Given the description of an element on the screen output the (x, y) to click on. 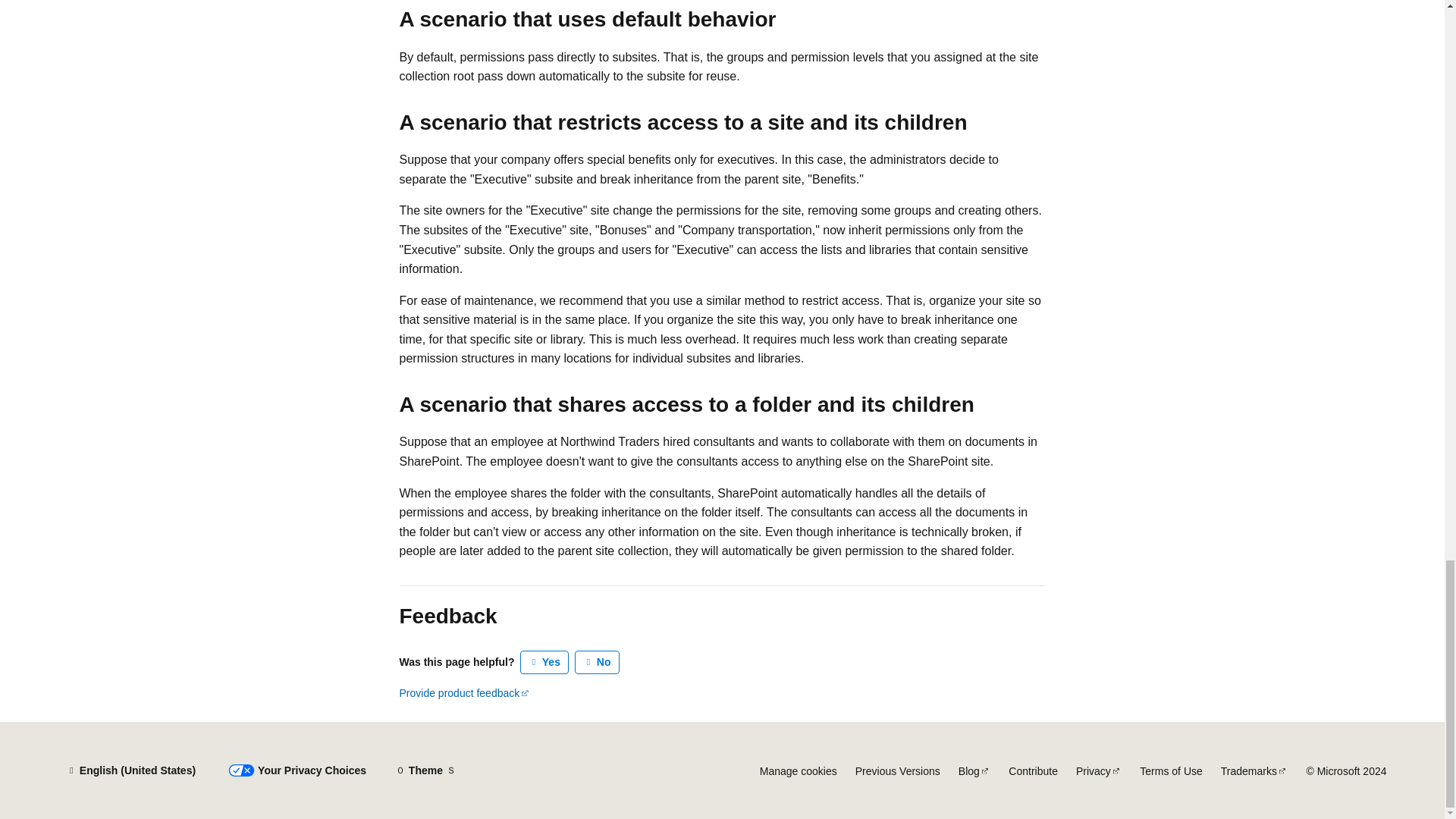
Yes (544, 662)
No (597, 662)
Theme (425, 770)
This article is not helpful (597, 662)
This article is helpful (544, 662)
